Given the description of an element on the screen output the (x, y) to click on. 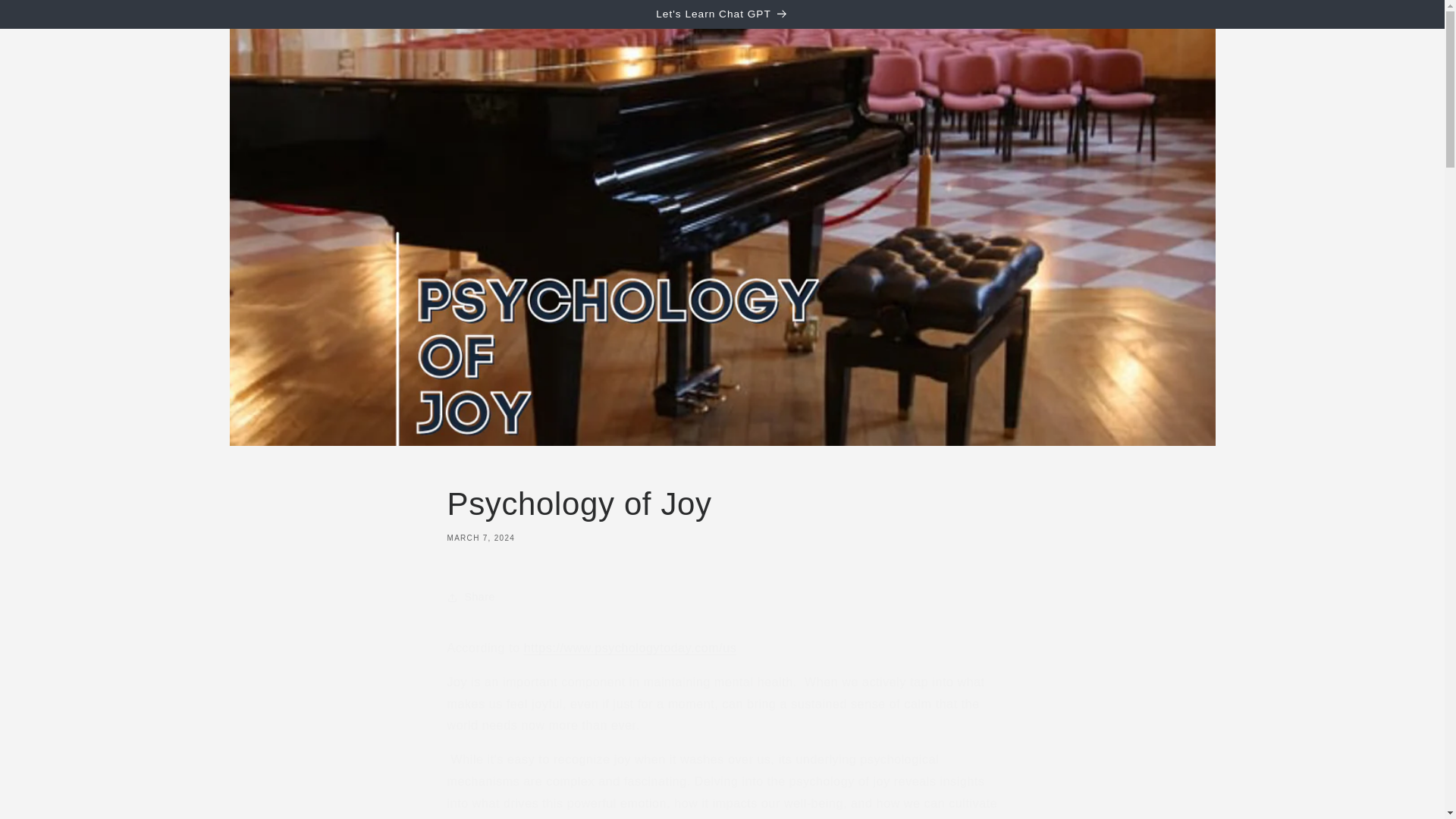
Share (721, 597)
psychology today (630, 647)
Skip to content (45, 17)
Let's Learn Chat GPT (722, 14)
